Given the description of an element on the screen output the (x, y) to click on. 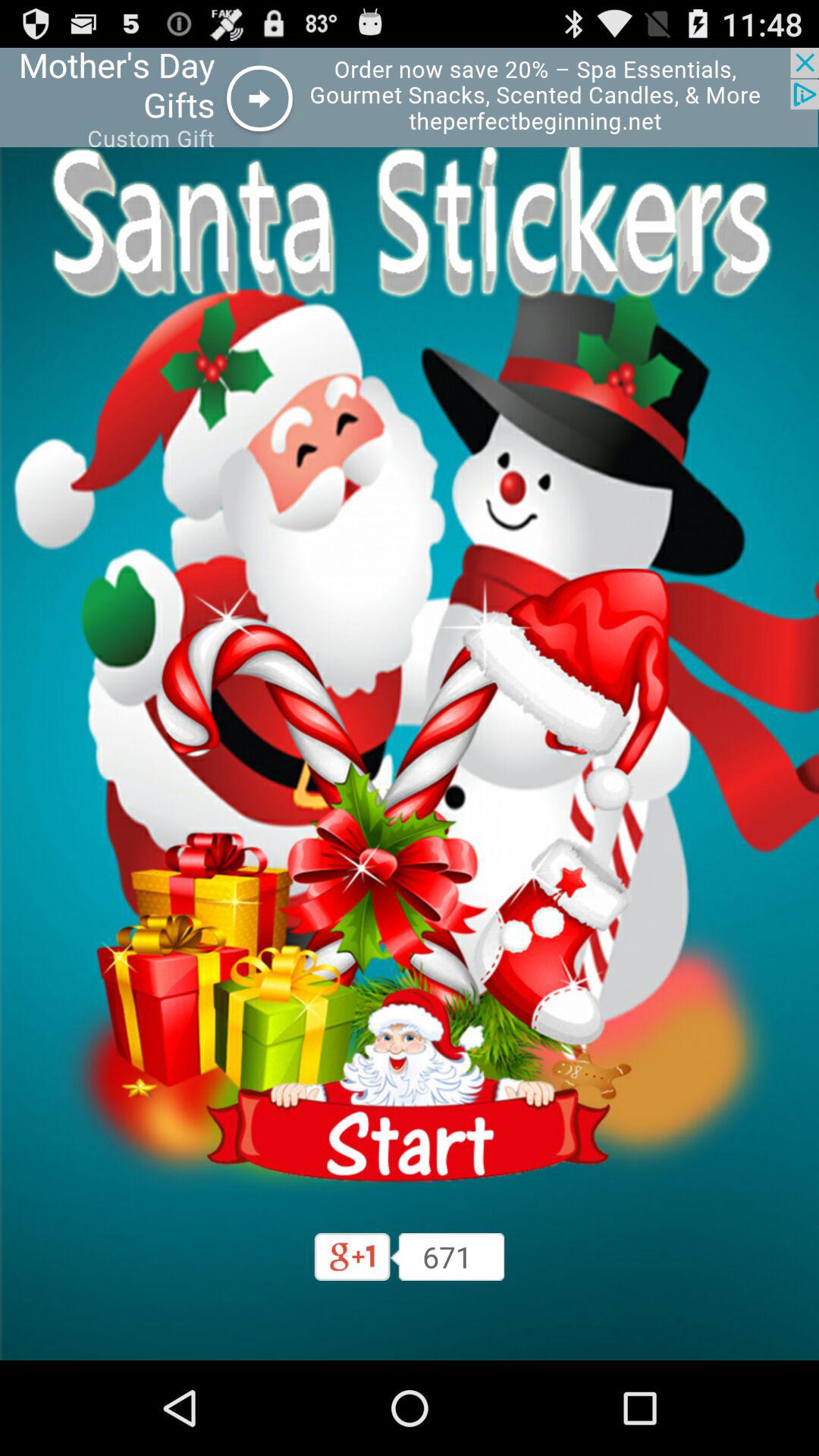
add the option (409, 97)
